Given the description of an element on the screen output the (x, y) to click on. 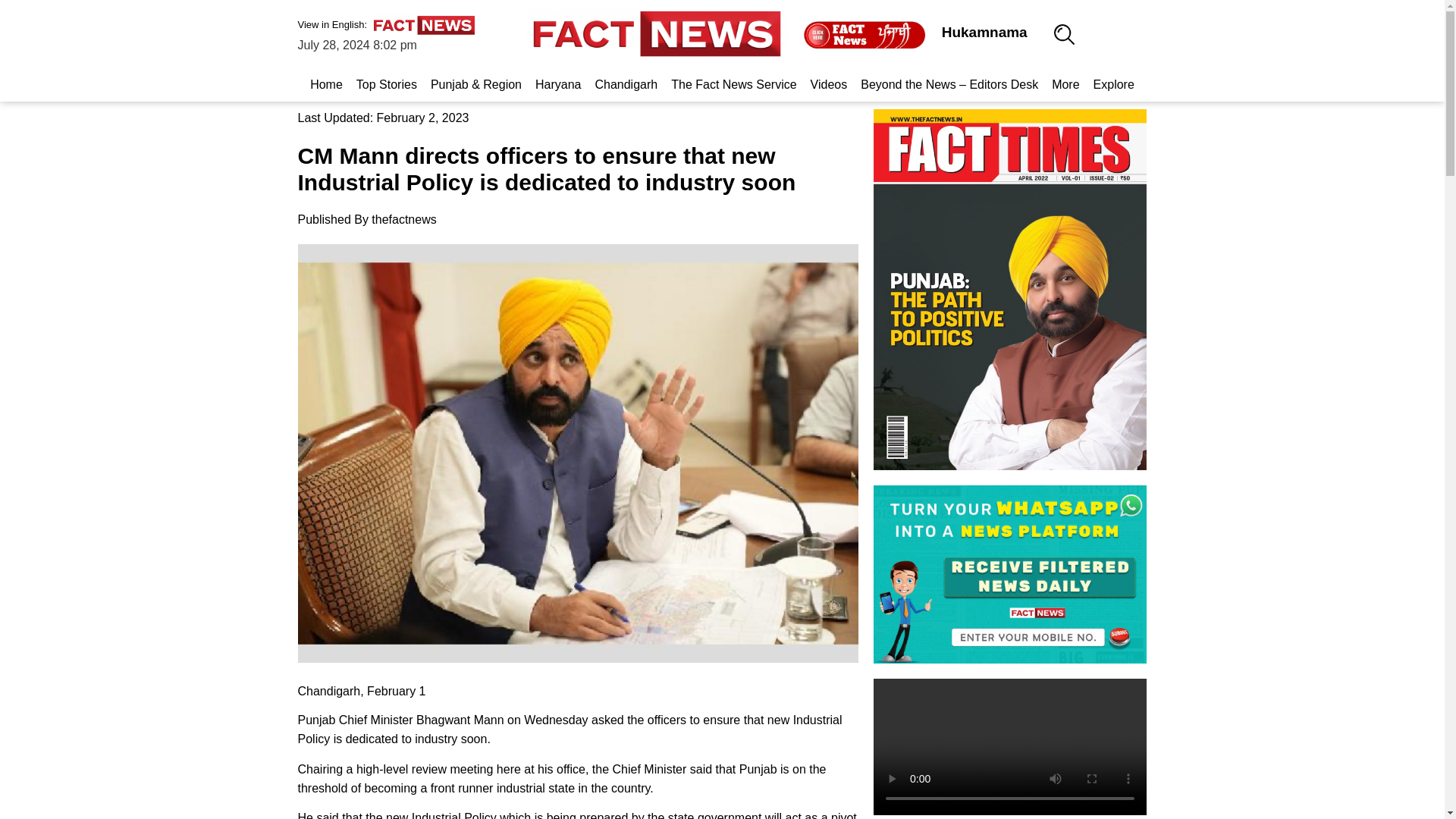
More (1065, 84)
Haryana (558, 84)
Videos (828, 84)
The Fact News Service (733, 84)
Hukamnama (984, 32)
Chandigarh (625, 84)
Top Stories (386, 84)
Home (325, 84)
Explore (1113, 84)
